Given the description of an element on the screen output the (x, y) to click on. 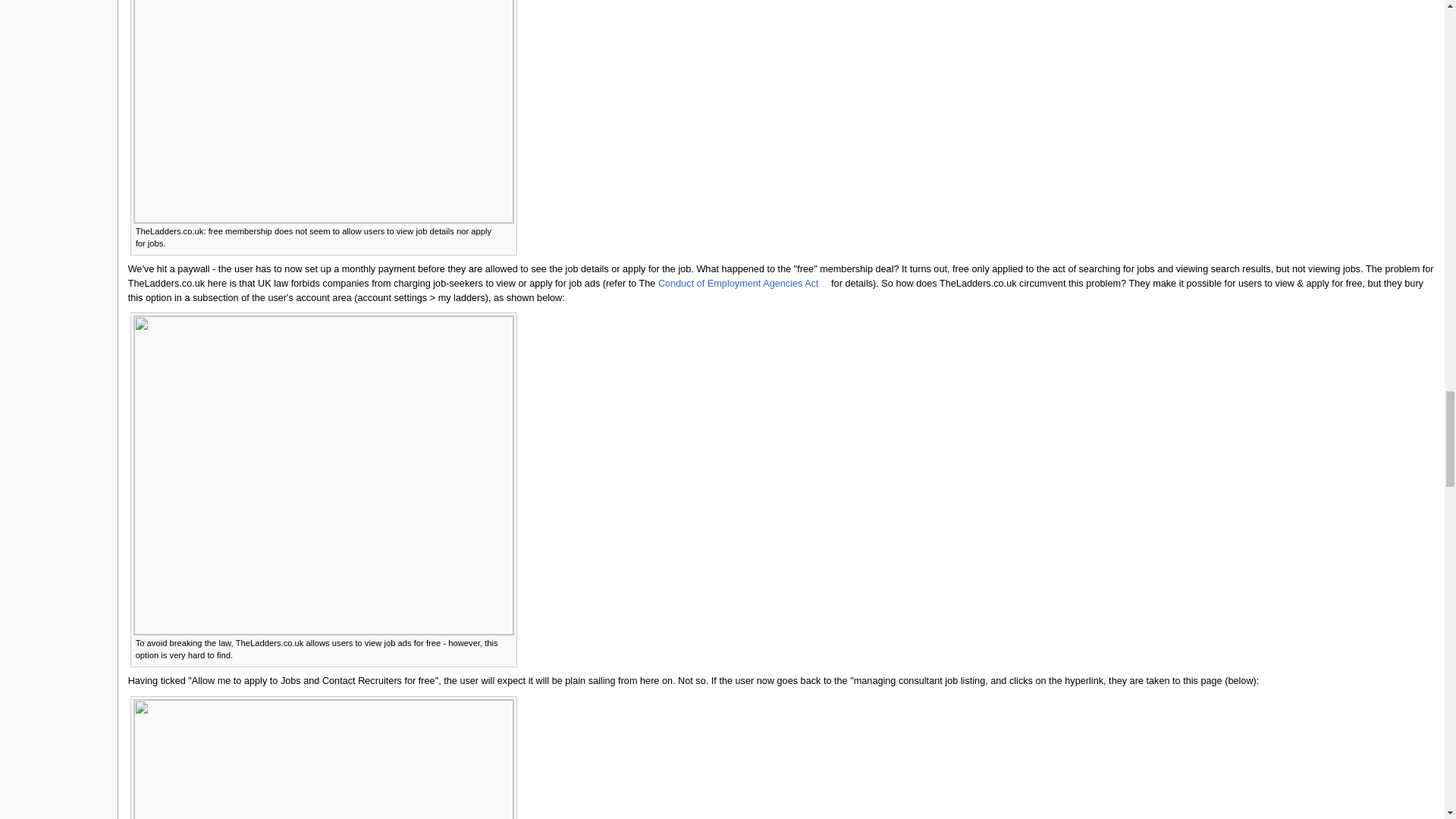
Conduct of Employment Agencies Act (743, 283)
Enlarge (506, 642)
Enlarge (506, 230)
